Given the description of an element on the screen output the (x, y) to click on. 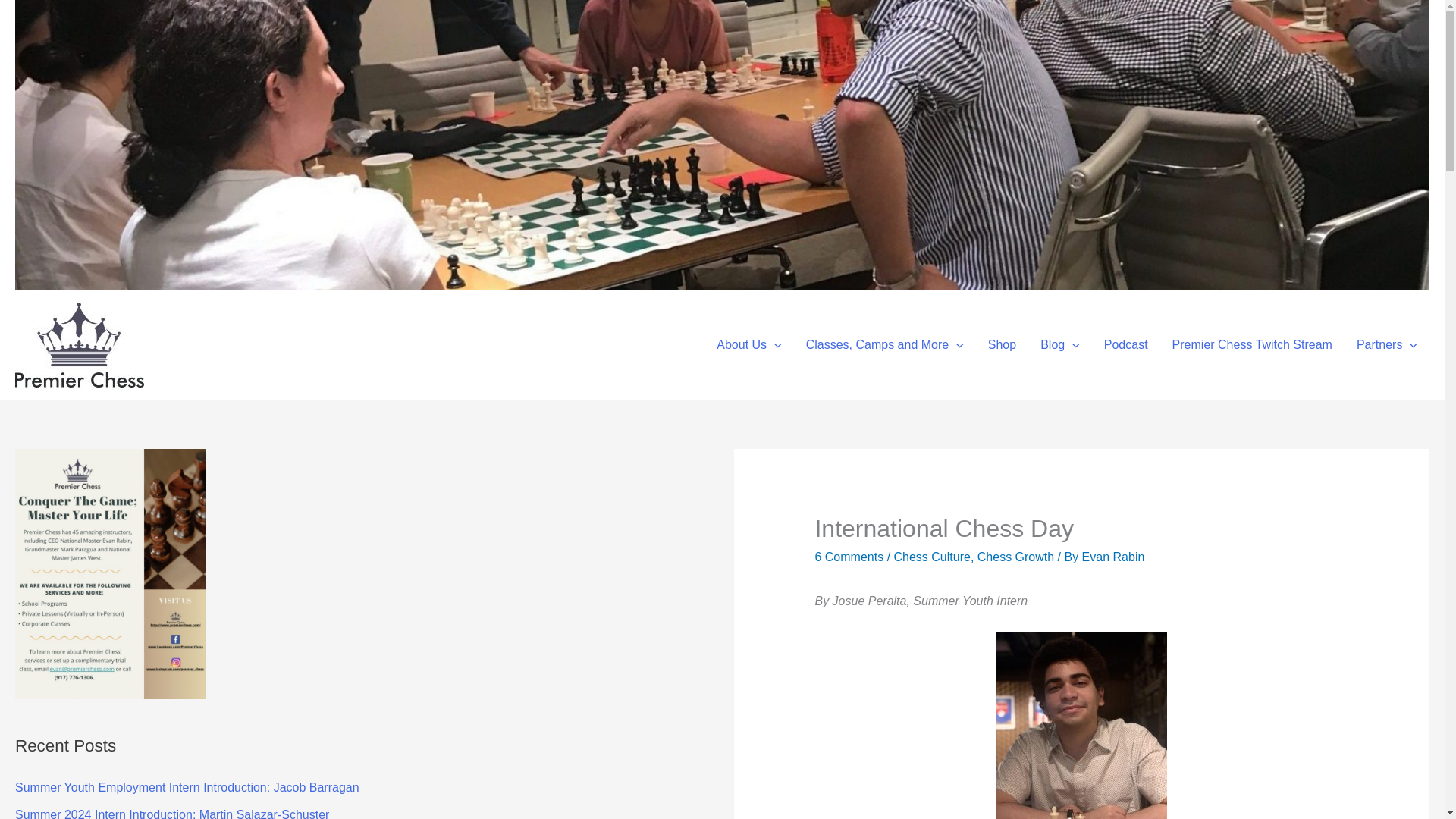
Partners (1386, 344)
About Us (748, 344)
Premier Chess Twitch Stream (1251, 344)
View all posts by Evan Rabin (1112, 556)
Classes, Camps and More (884, 344)
Blog (1059, 344)
Podcast (1126, 344)
Shop (1001, 344)
